Given the description of an element on the screen output the (x, y) to click on. 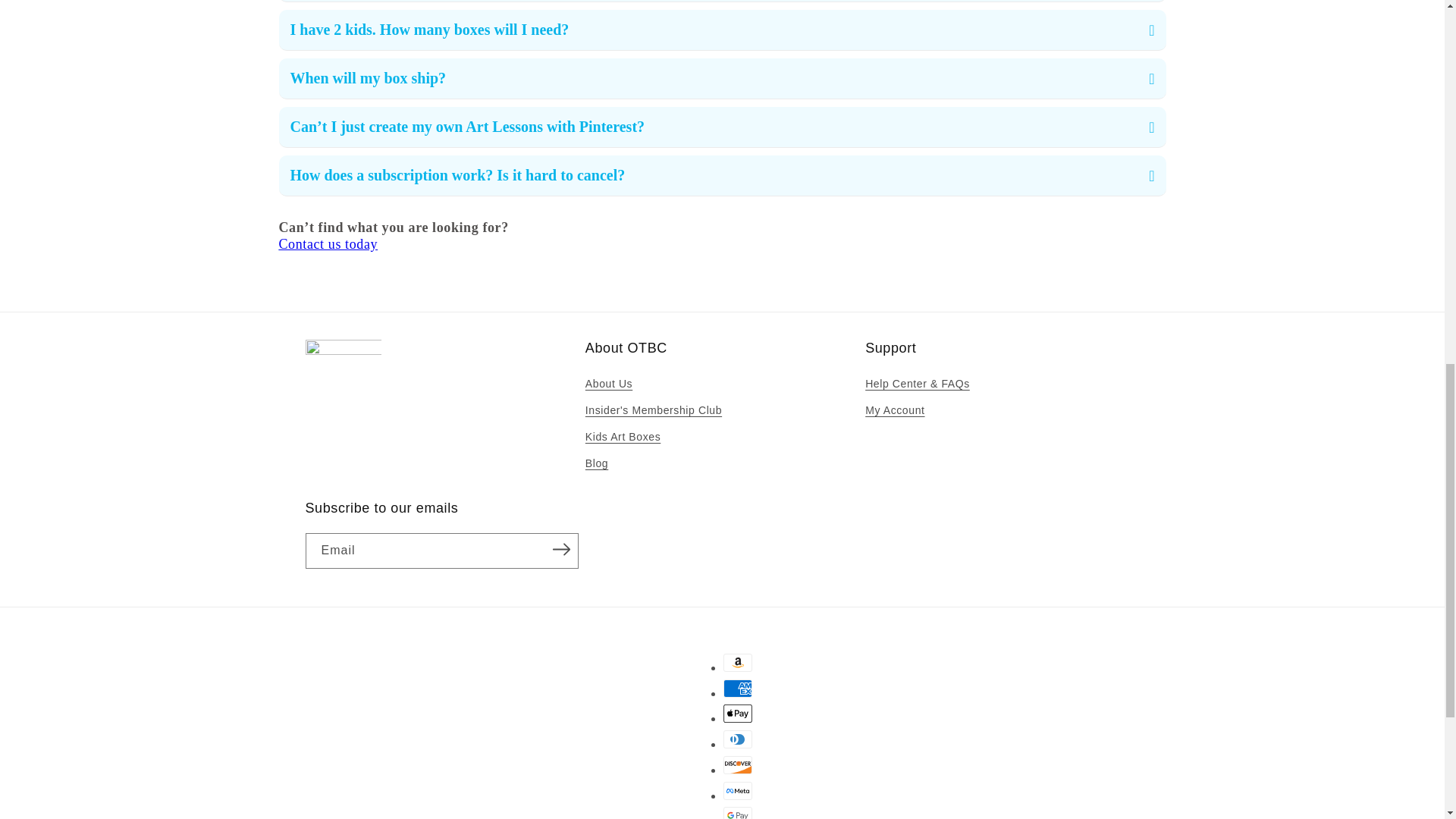
Amazon (737, 662)
Meta Pay (737, 791)
American Express (737, 688)
Apple Pay (737, 713)
When will my box ship? (722, 78)
Discover (737, 764)
I have 2 kids. How many boxes will I need? (722, 29)
Diners Club (737, 739)
Google Pay (737, 812)
